Given the description of an element on the screen output the (x, y) to click on. 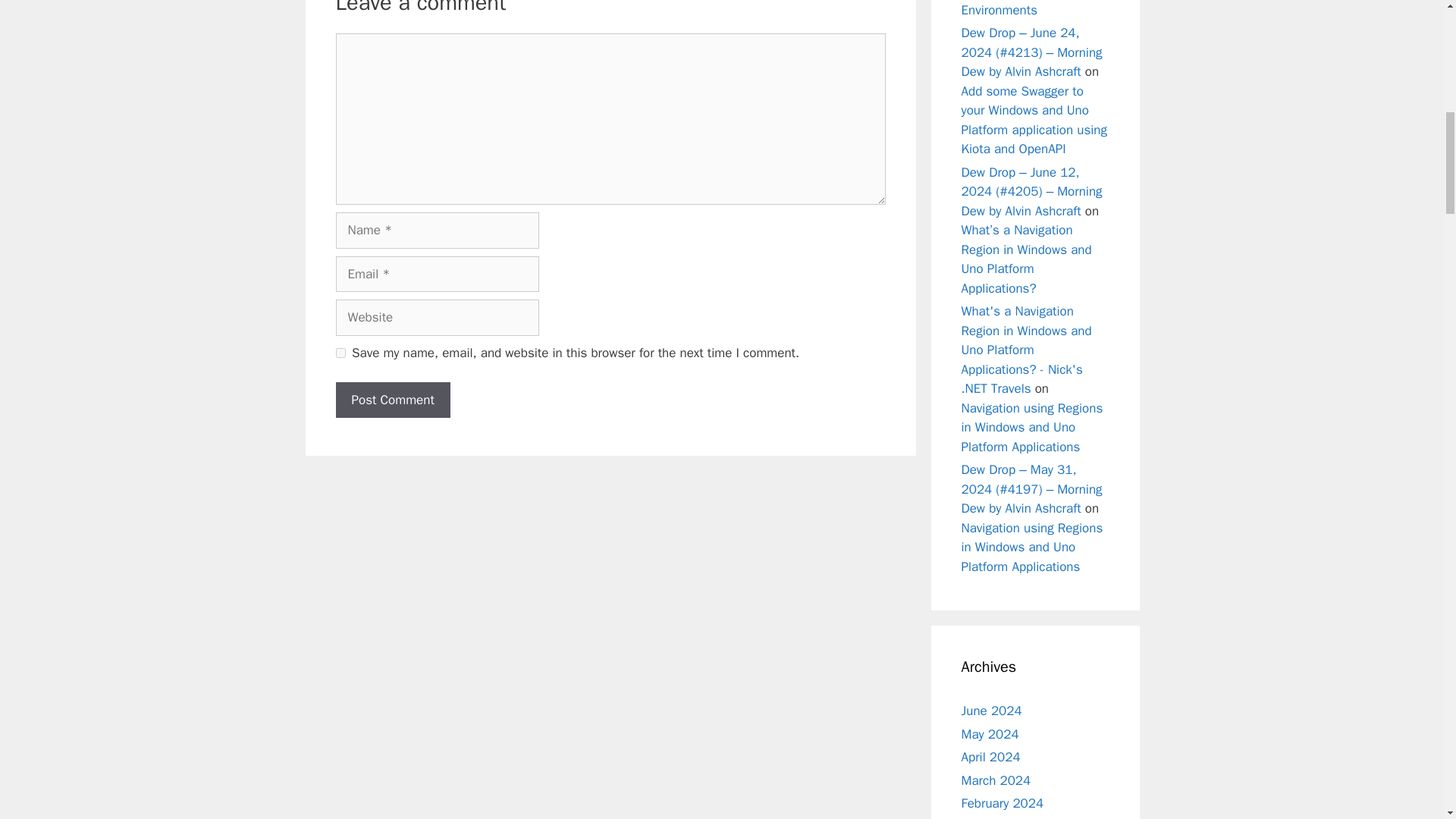
March 2024 (995, 779)
Post Comment (391, 400)
Post Comment (391, 400)
April 2024 (990, 756)
June 2024 (991, 710)
May 2024 (989, 734)
February 2024 (1001, 803)
yes (339, 352)
